Given the description of an element on the screen output the (x, y) to click on. 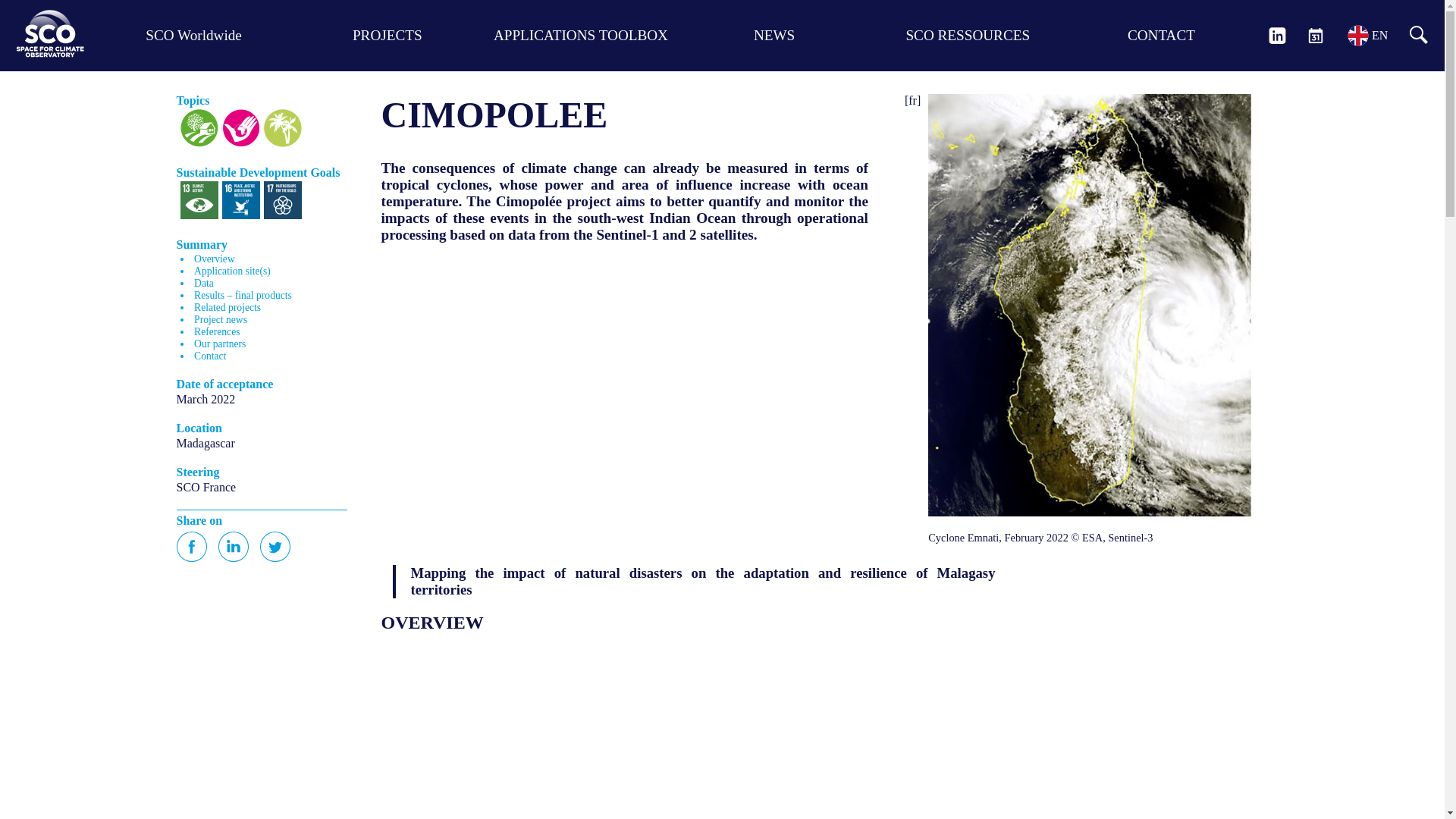
Tropical areas (282, 127)
Twitter (274, 546)
SCO Worldwide (193, 35)
Land Use (199, 127)
PROJECTS (387, 35)
Peace, justice and strong institutions (240, 199)
NEWS (774, 35)
SCO RESSOURCES (967, 35)
Climate action  (199, 199)
Linkedin (233, 546)
References (216, 331)
Related projects (226, 307)
CONTACT (1160, 35)
Search (53, 16)
